Given the description of an element on the screen output the (x, y) to click on. 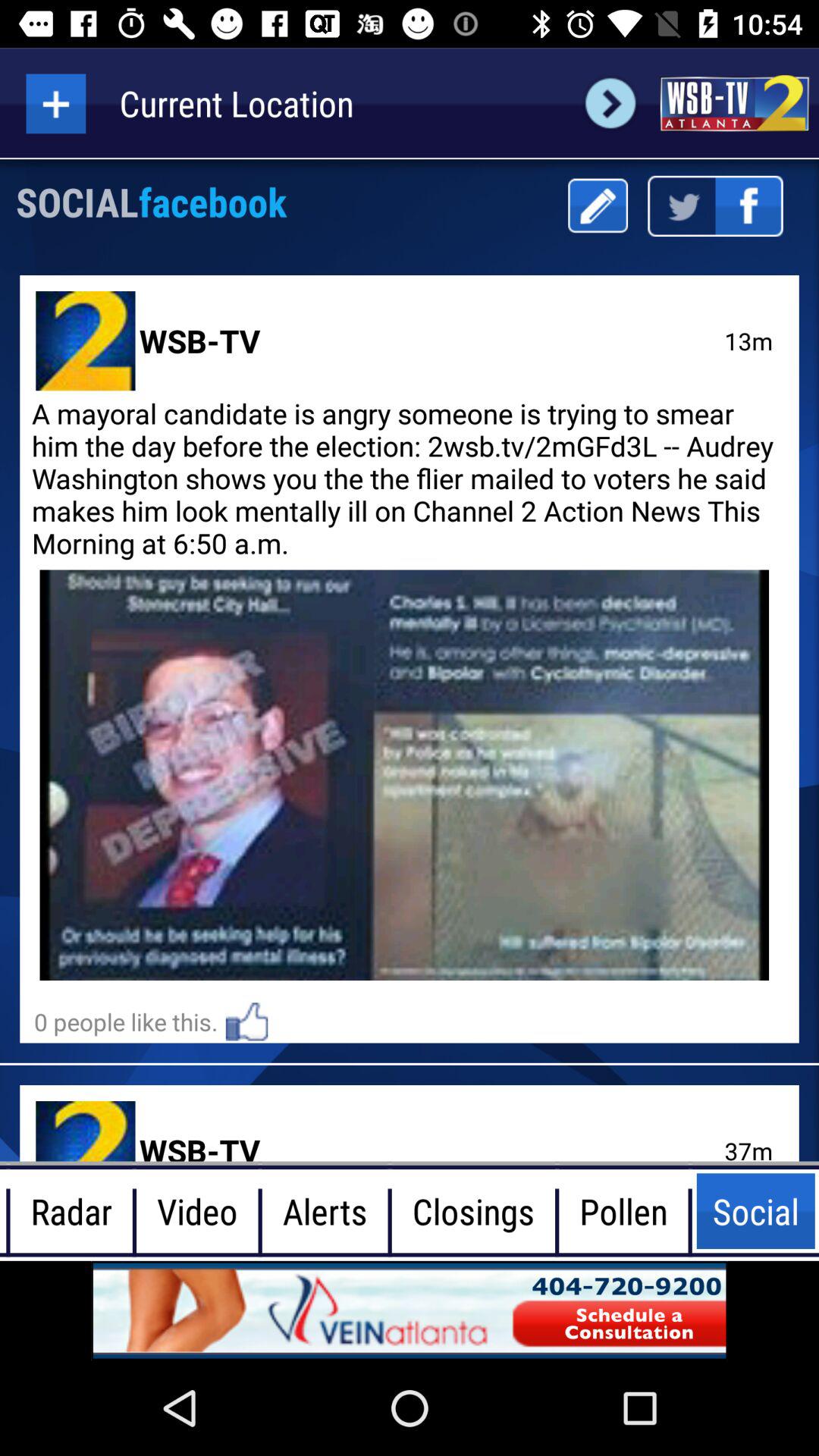
ford word (610, 103)
